Given the description of an element on the screen output the (x, y) to click on. 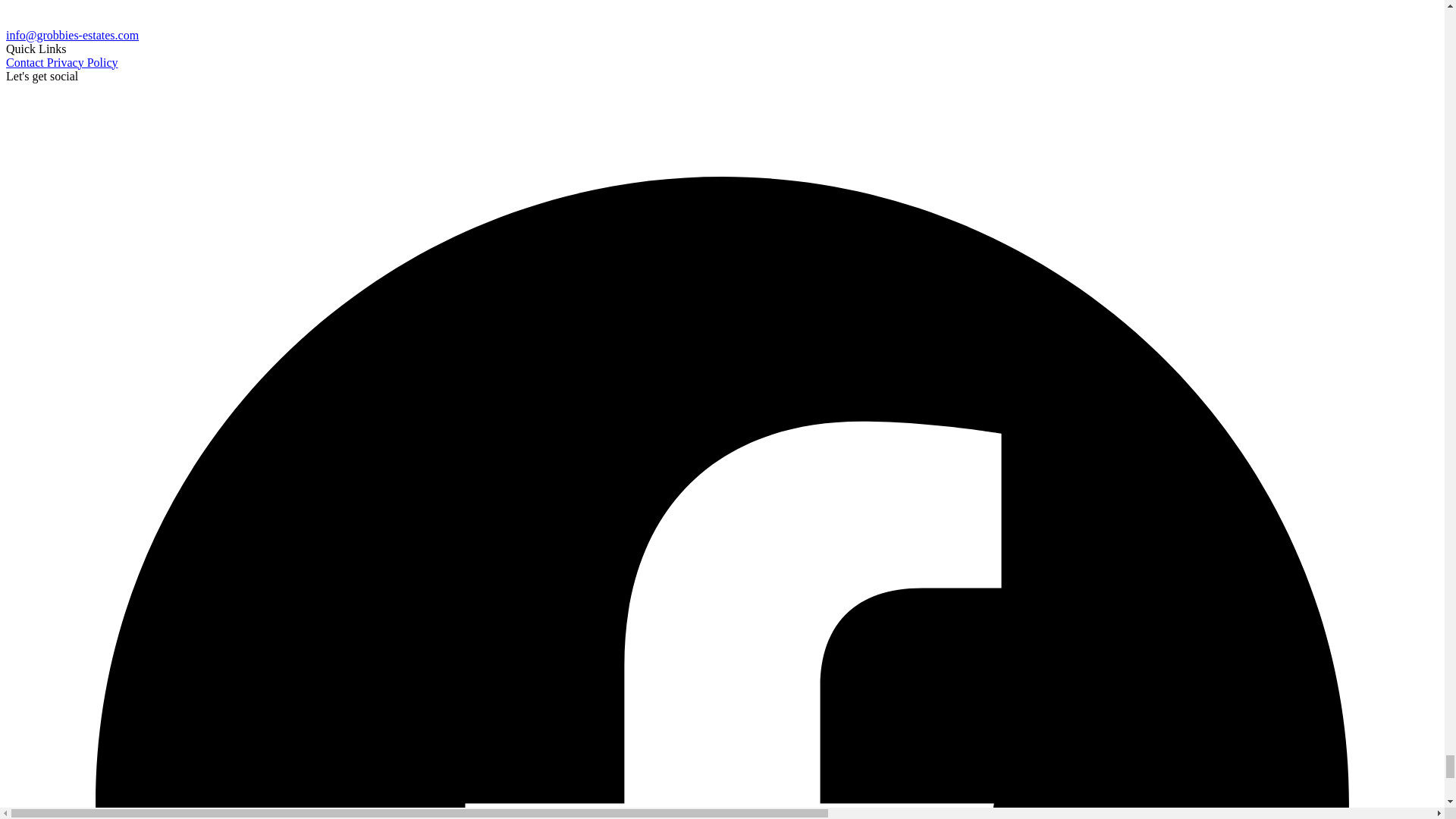
Contact (25, 62)
Privacy Policy (81, 62)
